Given the description of an element on the screen output the (x, y) to click on. 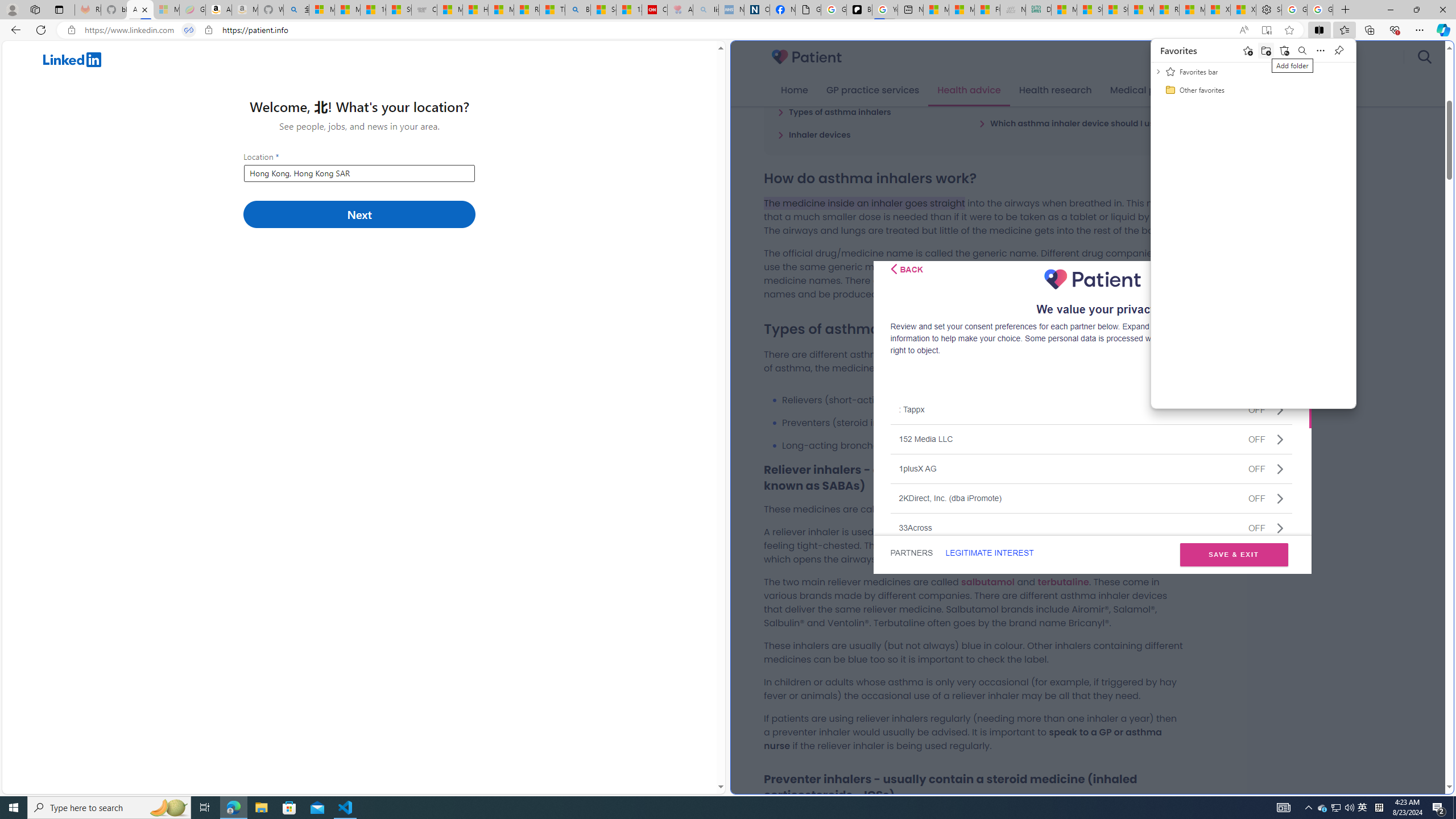
Inhaler devices (813, 134)
